Given the description of an element on the screen output the (x, y) to click on. 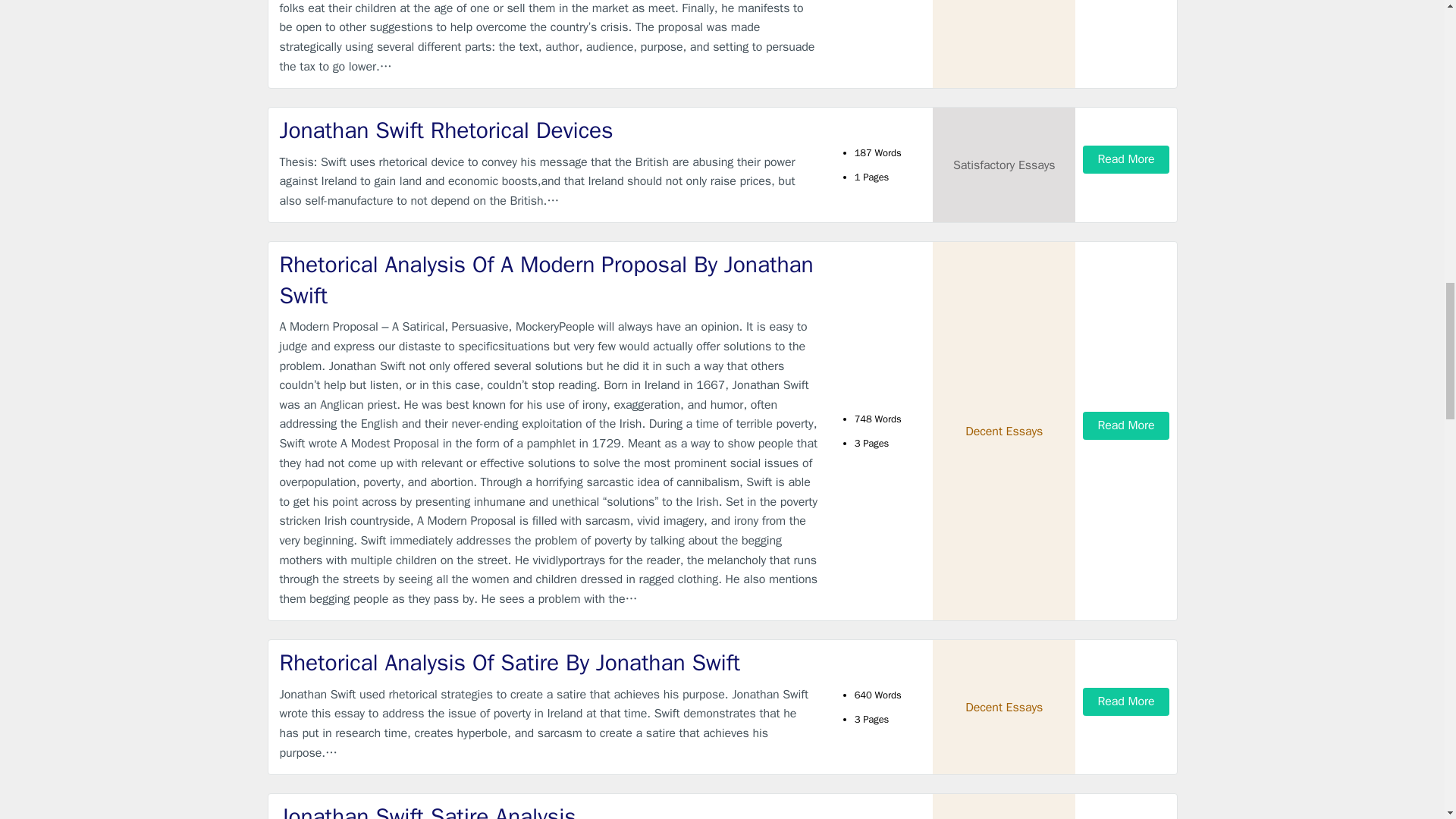
Rhetorical Analysis Of A Modern Proposal By Jonathan Swift (548, 280)
Rhetorical Analysis Of Satire By Jonathan Swift (548, 662)
Read More (1126, 159)
Read More (1126, 425)
Jonathan Swift Satire Analysis (548, 810)
Read More (1126, 701)
Jonathan Swift Rhetorical Devices (548, 130)
